Given the description of an element on the screen output the (x, y) to click on. 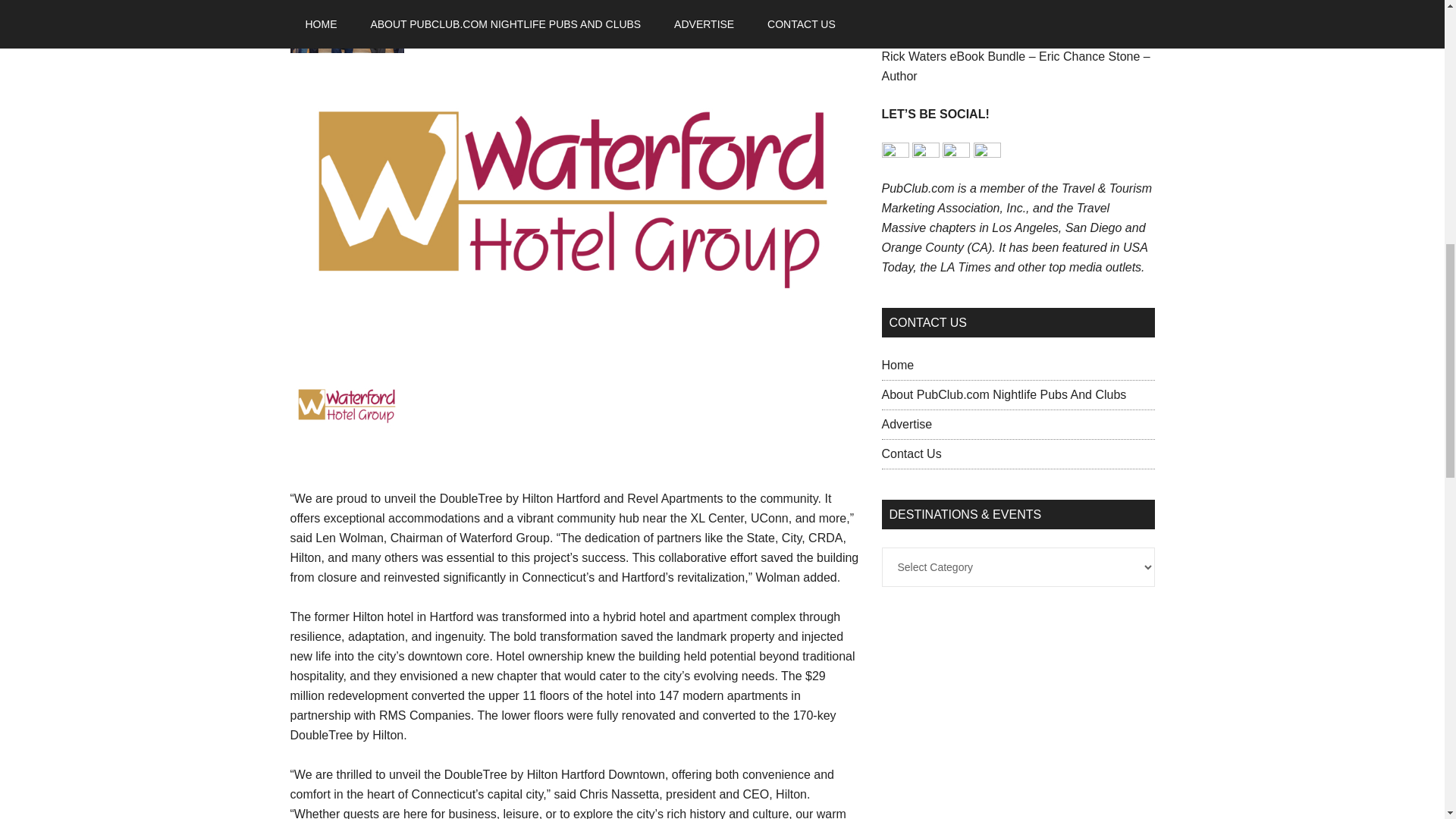
Home (897, 364)
Contact Us (910, 453)
About PubClub.com Nightlife Pubs And Clubs (1002, 394)
Advertise (905, 423)
YouTube video player (994, 11)
